Given the description of an element on the screen output the (x, y) to click on. 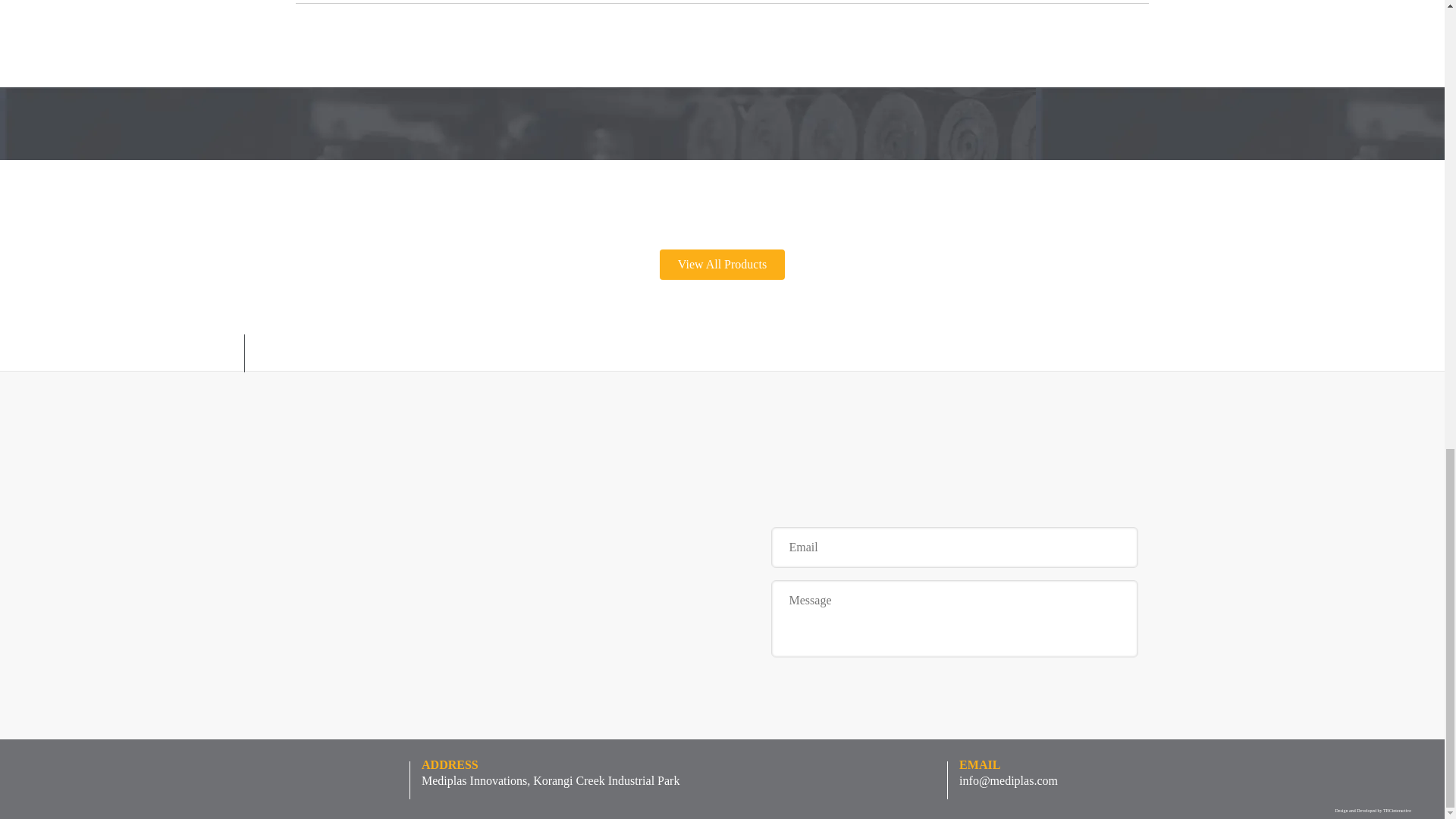
Mediplas Innovations, Korangi Creek Industrial Park (550, 780)
Submit Message (953, 768)
Design and Developed by TBCinteractive (1372, 810)
View All Products (721, 264)
